Given the description of an element on the screen output the (x, y) to click on. 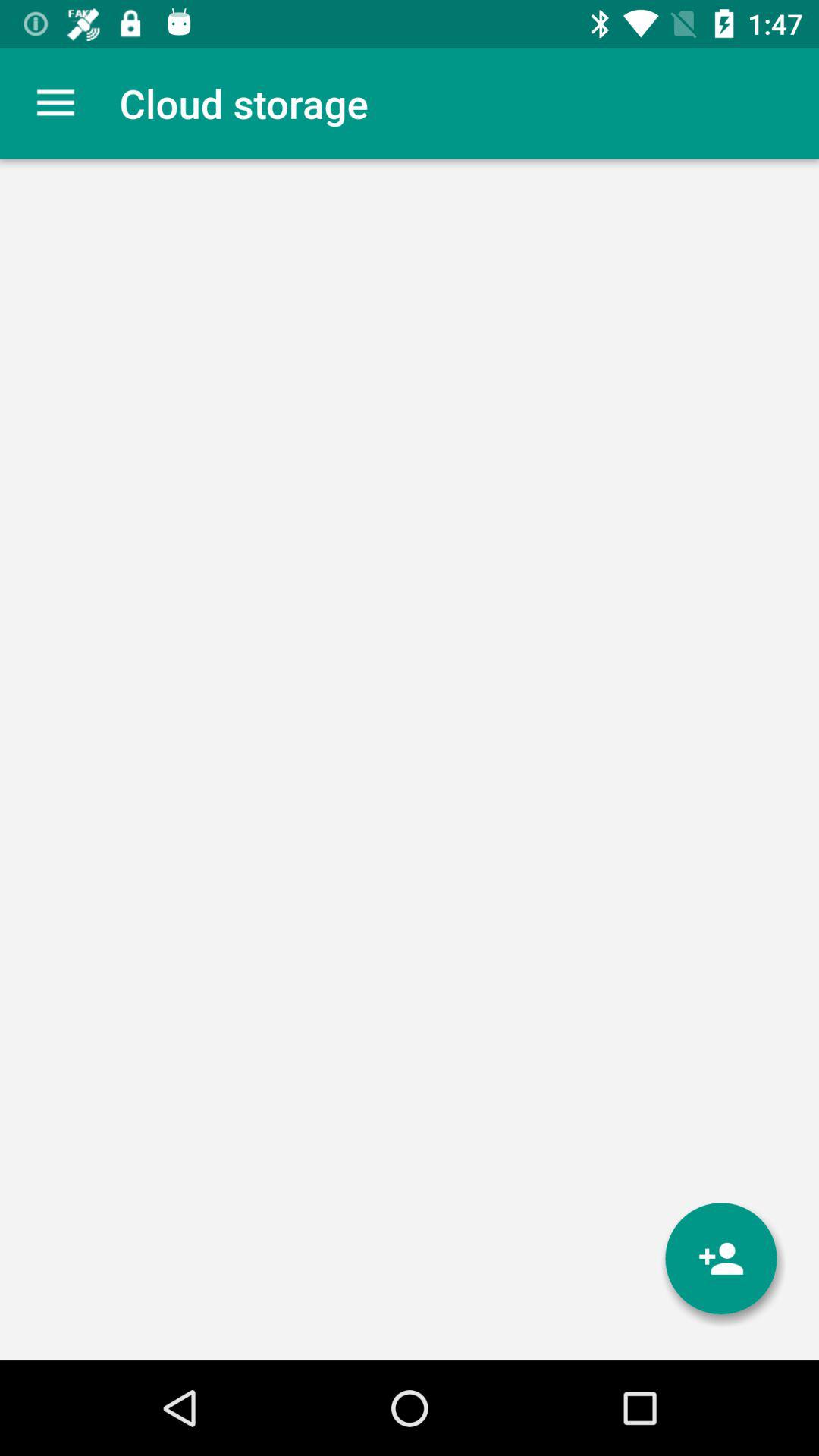
turn off app next to the cloud storage item (55, 103)
